Given the description of an element on the screen output the (x, y) to click on. 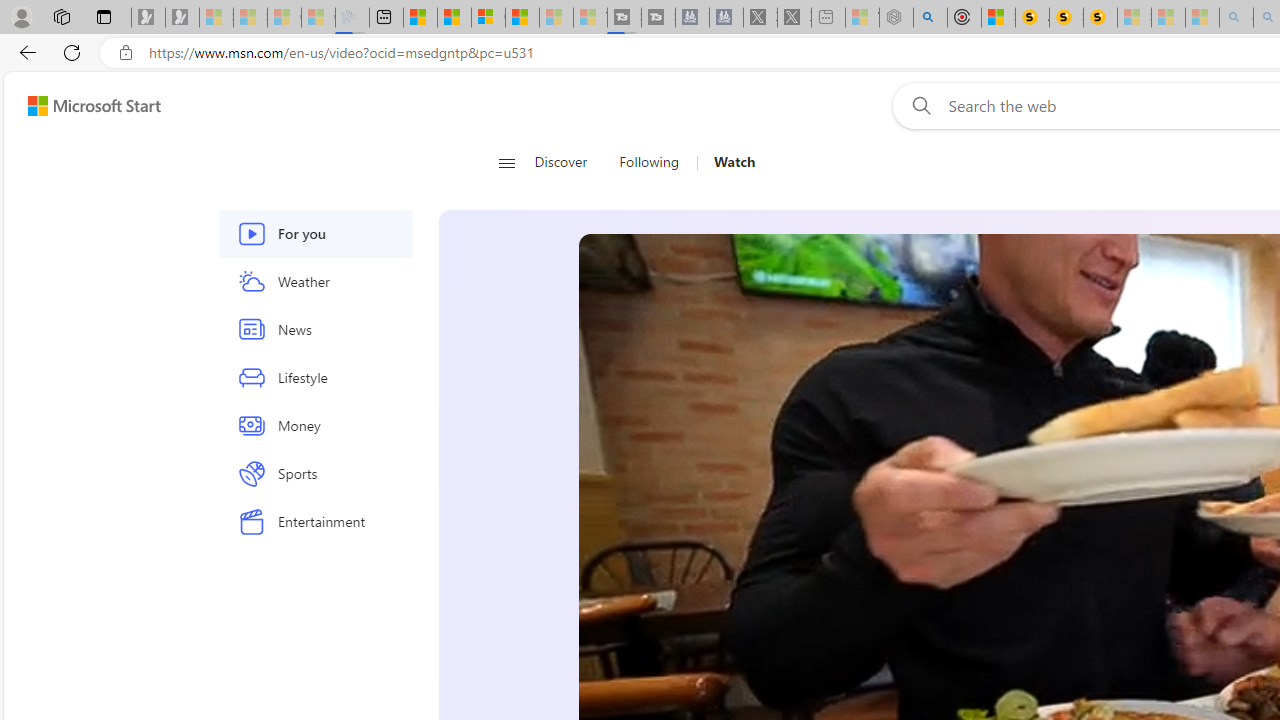
Watch (726, 162)
Web search (917, 105)
Nordace - Summer Adventures 2024 - Sleeping (895, 17)
X - Sleeping (794, 17)
Skip to content (86, 105)
amazon - Search - Sleeping (1236, 17)
Wildlife - MSN - Sleeping (862, 17)
New tab - Sleeping (827, 17)
Discover (568, 162)
